Given the description of an element on the screen output the (x, y) to click on. 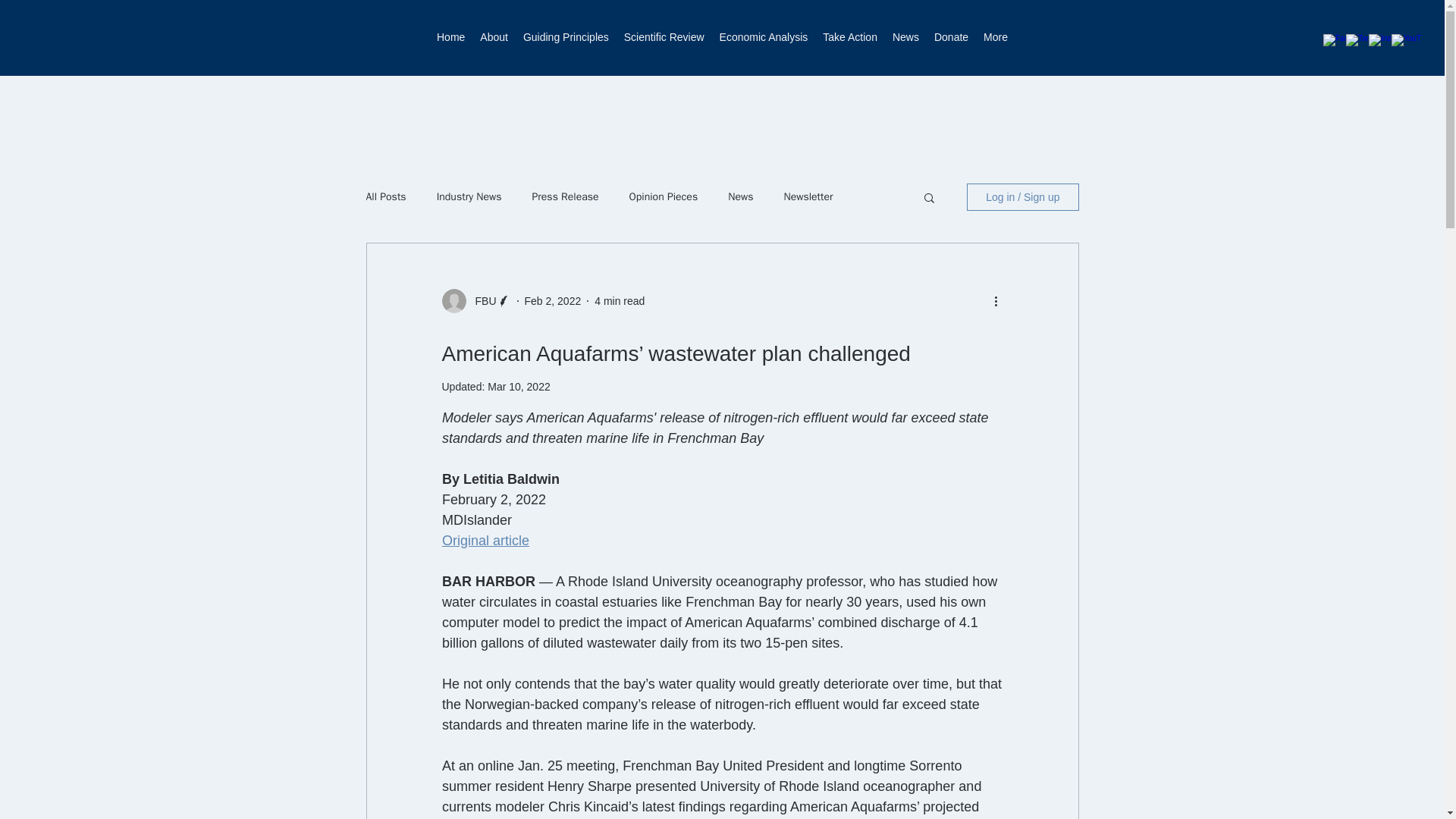
About (493, 41)
Industry News (469, 196)
Scientific Review (663, 41)
Opinion Pieces (663, 196)
Newsletter (807, 196)
Guiding Principles (565, 41)
All Posts (385, 196)
Press Release (565, 196)
Mar 10, 2022 (518, 386)
Original article (484, 540)
